Given the description of an element on the screen output the (x, y) to click on. 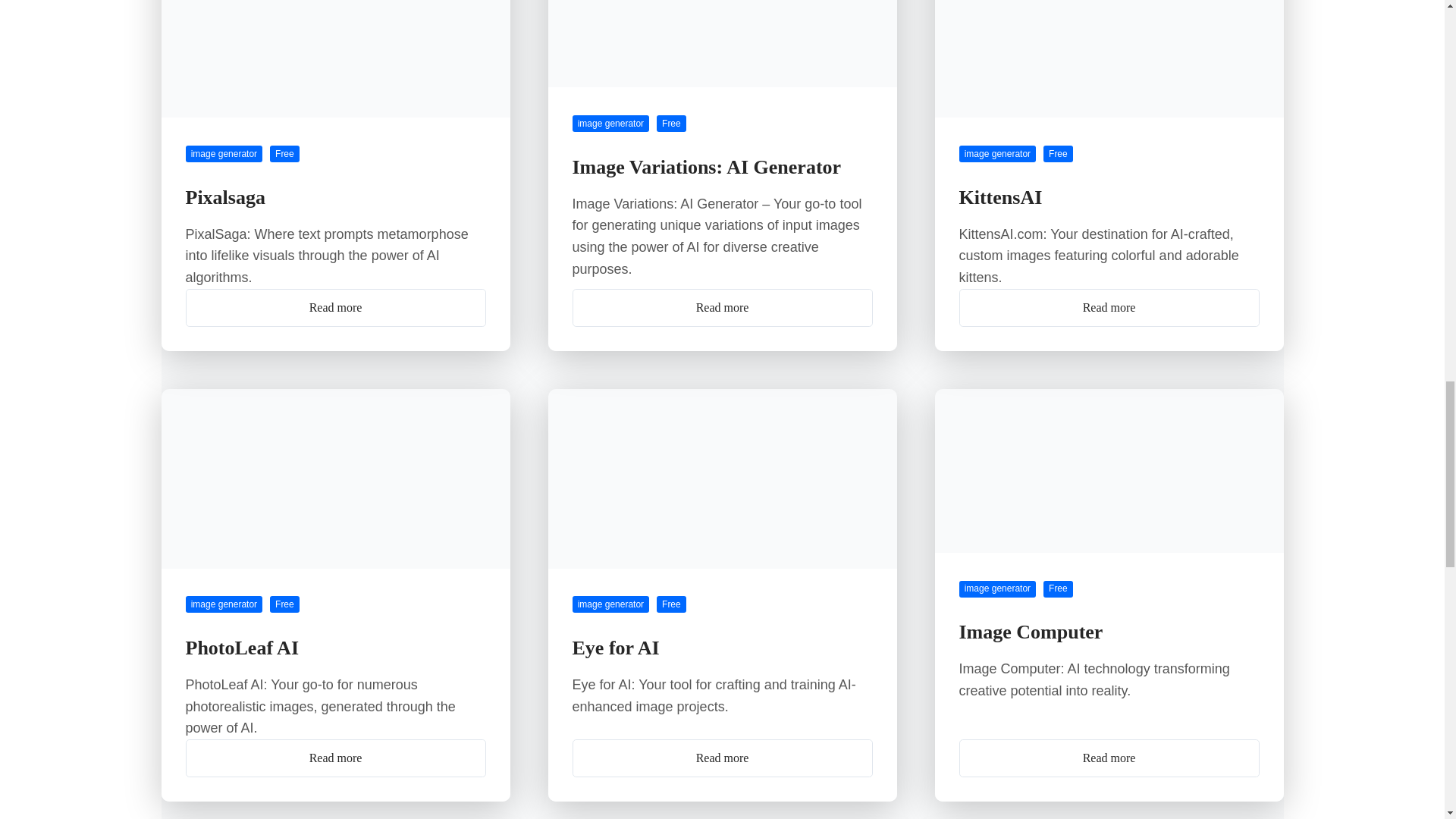
image generator (996, 153)
Read more (722, 307)
Read more (334, 307)
Free (284, 153)
image generator (223, 153)
Pixalsaga (224, 197)
Image Variations: AI Generator (706, 167)
Free (670, 123)
image generator (610, 123)
